Given the description of an element on the screen output the (x, y) to click on. 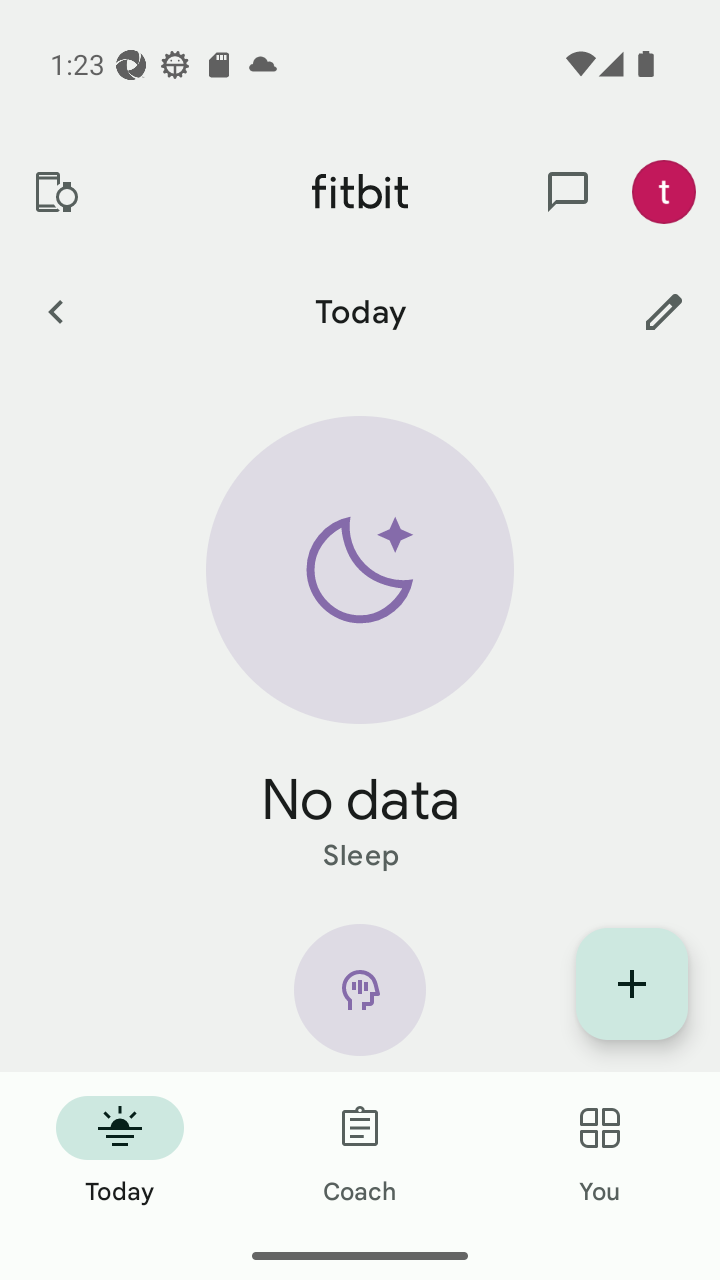
Devices and apps (55, 191)
messages and notifications (567, 191)
Previous Day (55, 311)
Customize (664, 311)
Sleep static hero arc No data Sleep (359, 645)
Mindfulness icon (360, 998)
Display list of quick log entries (632, 983)
Coach (359, 1151)
You (600, 1151)
